Given the description of an element on the screen output the (x, y) to click on. 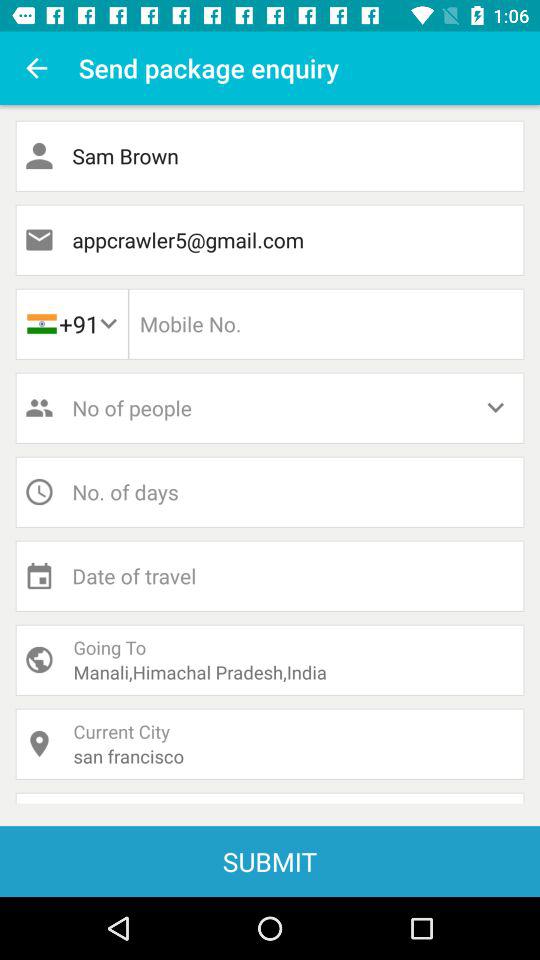
swipe until sam brown (269, 155)
